Given the description of an element on the screen output the (x, y) to click on. 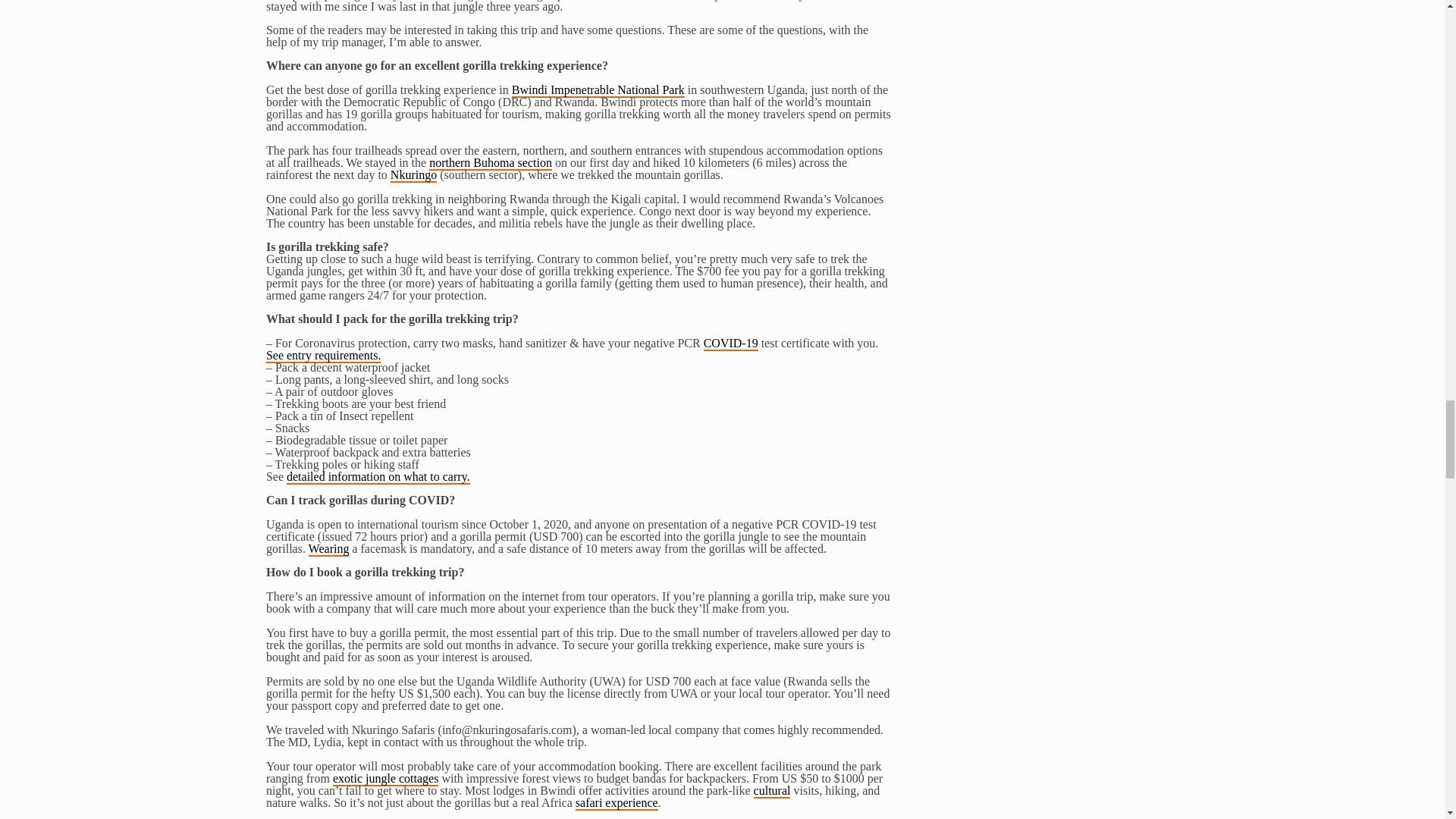
northern Buhoma section (490, 163)
Nkuringo (413, 175)
Bwindi Impenetrable National Park (598, 90)
